Given the description of an element on the screen output the (x, y) to click on. 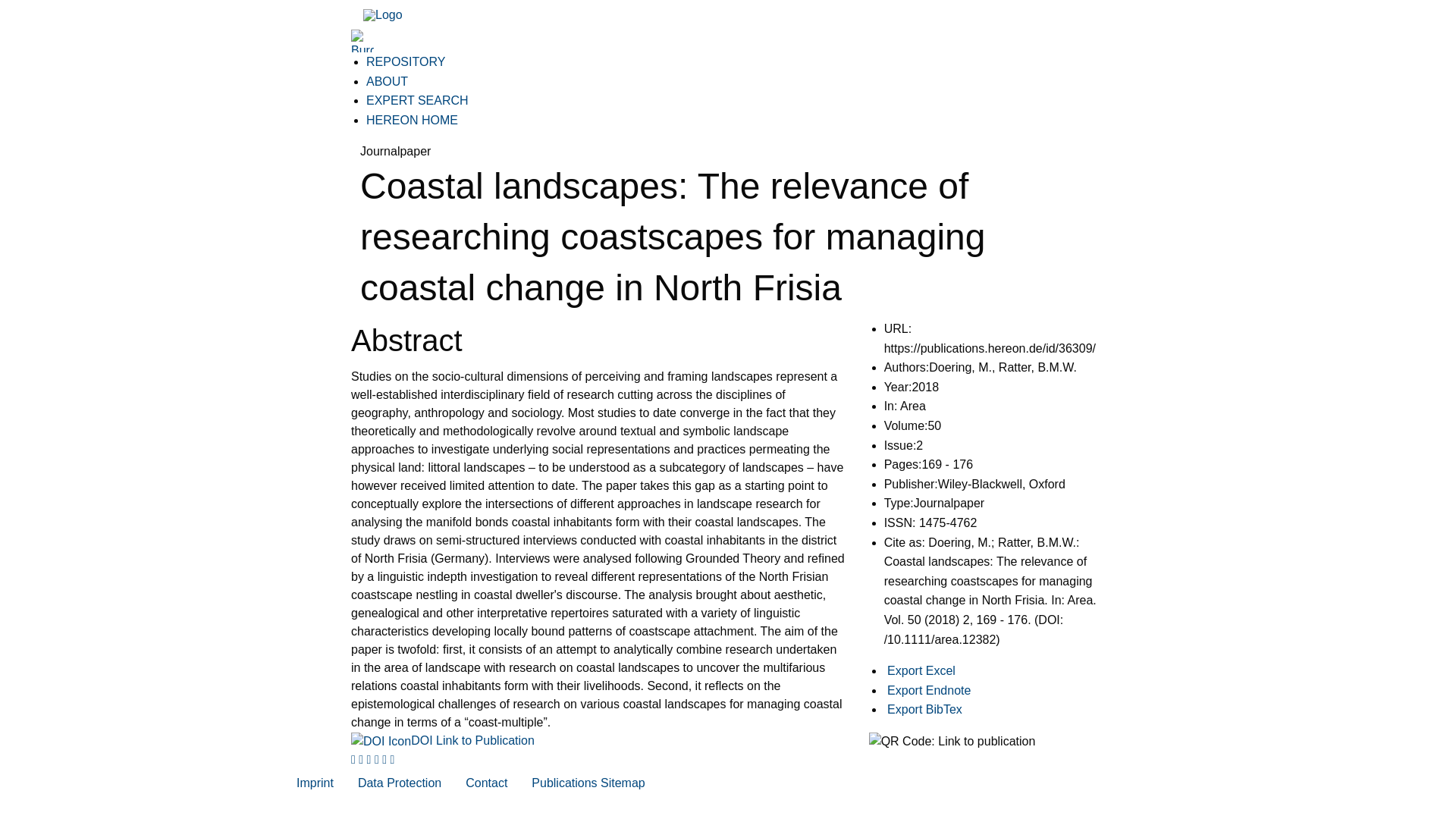
Publications Homepage (382, 15)
Export to Excel (920, 670)
REPOSITORY (405, 61)
Export Endnote (928, 689)
ABOUT (386, 81)
Export to Endnote (928, 689)
DOI Link to Publication (442, 739)
Publications Homepage (382, 14)
Back to Publications Homepage (382, 14)
Export BibTex (924, 708)
